Given the description of an element on the screen output the (x, y) to click on. 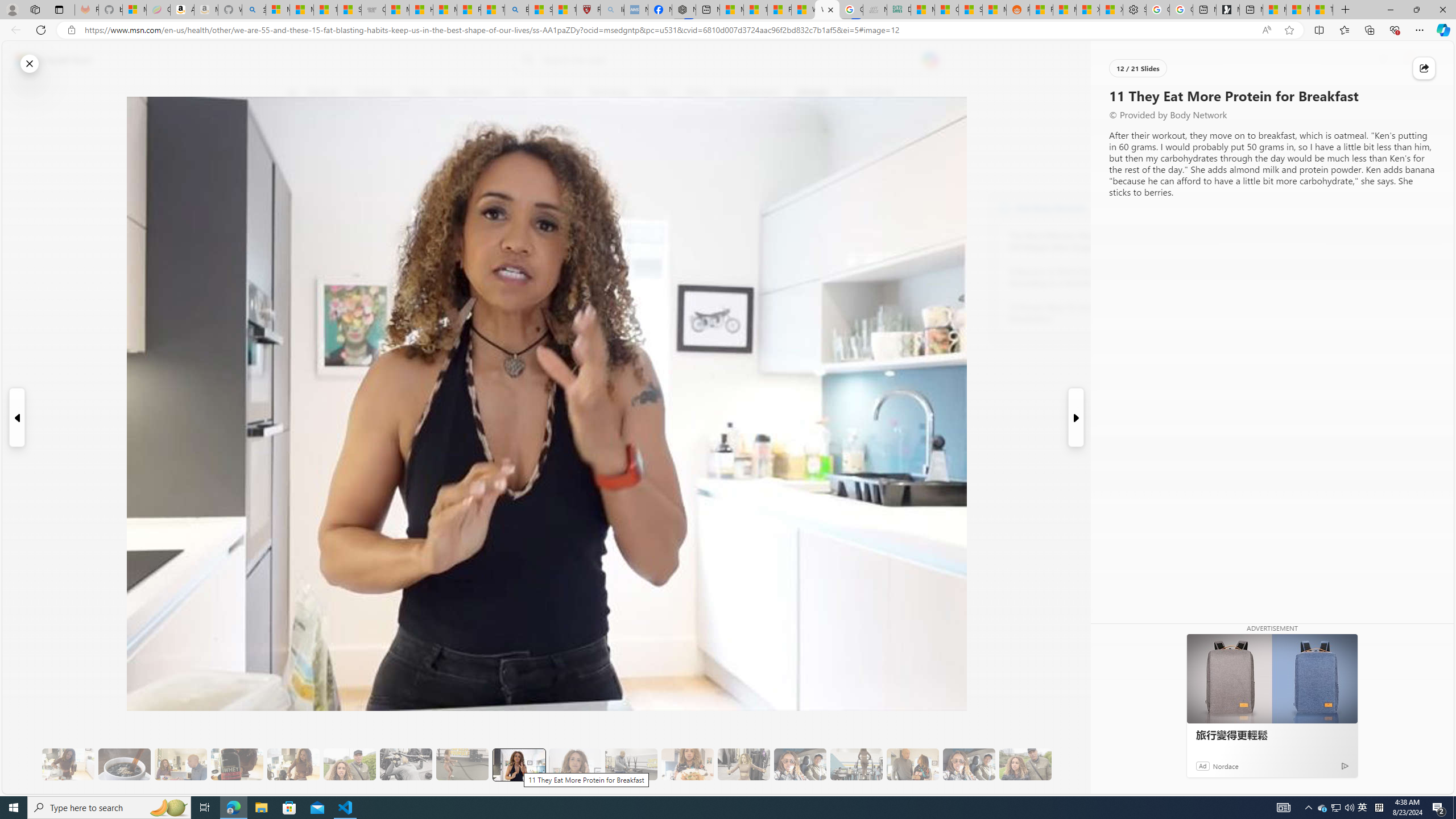
20 Overall, It Will Improve Your Health (1024, 764)
9 They Do Bench Exercises (406, 764)
Skip to content (49, 59)
R******* | Trusted Community Engagement and Contributions (1041, 9)
Fitness - MSN (779, 9)
13 Her Husband Does Group Cardio Classs (631, 764)
Science (557, 92)
Science - MSN (540, 9)
World News (468, 92)
Web search (526, 60)
Nordace - Nordace Siena Is Not An Ordinary Backpack (683, 9)
